Given the description of an element on the screen output the (x, y) to click on. 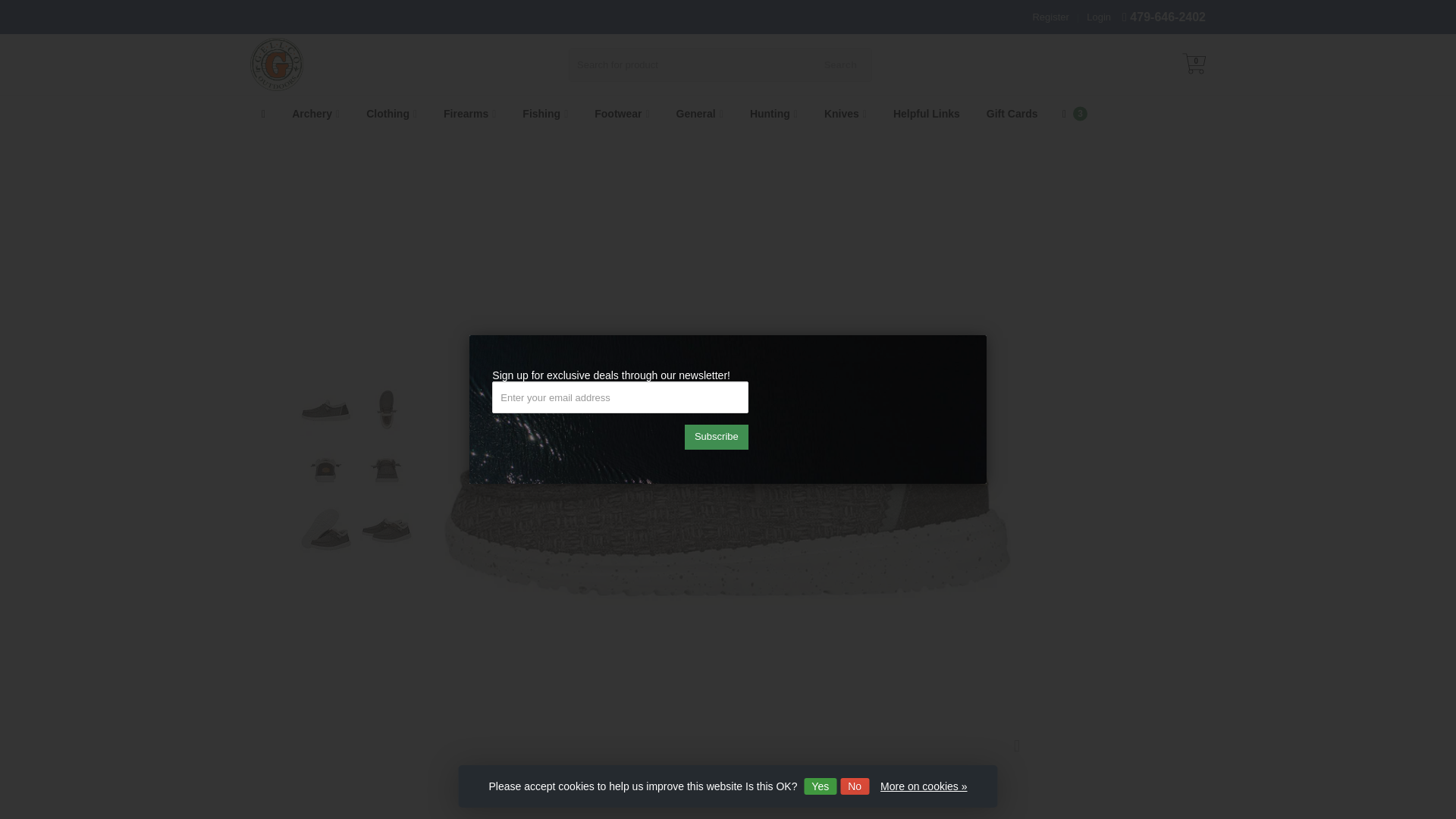
Register (1050, 16)
Login (1098, 16)
Search (839, 64)
Clothing (391, 113)
Archery (315, 113)
Subscribe (716, 437)
Subscribe (716, 437)
479-646-2402 (1167, 16)
Clothing (391, 113)
Archery (315, 113)
Cart (1192, 64)
My account (1098, 16)
0 (1192, 64)
Register (1050, 16)
